Given the description of an element on the screen output the (x, y) to click on. 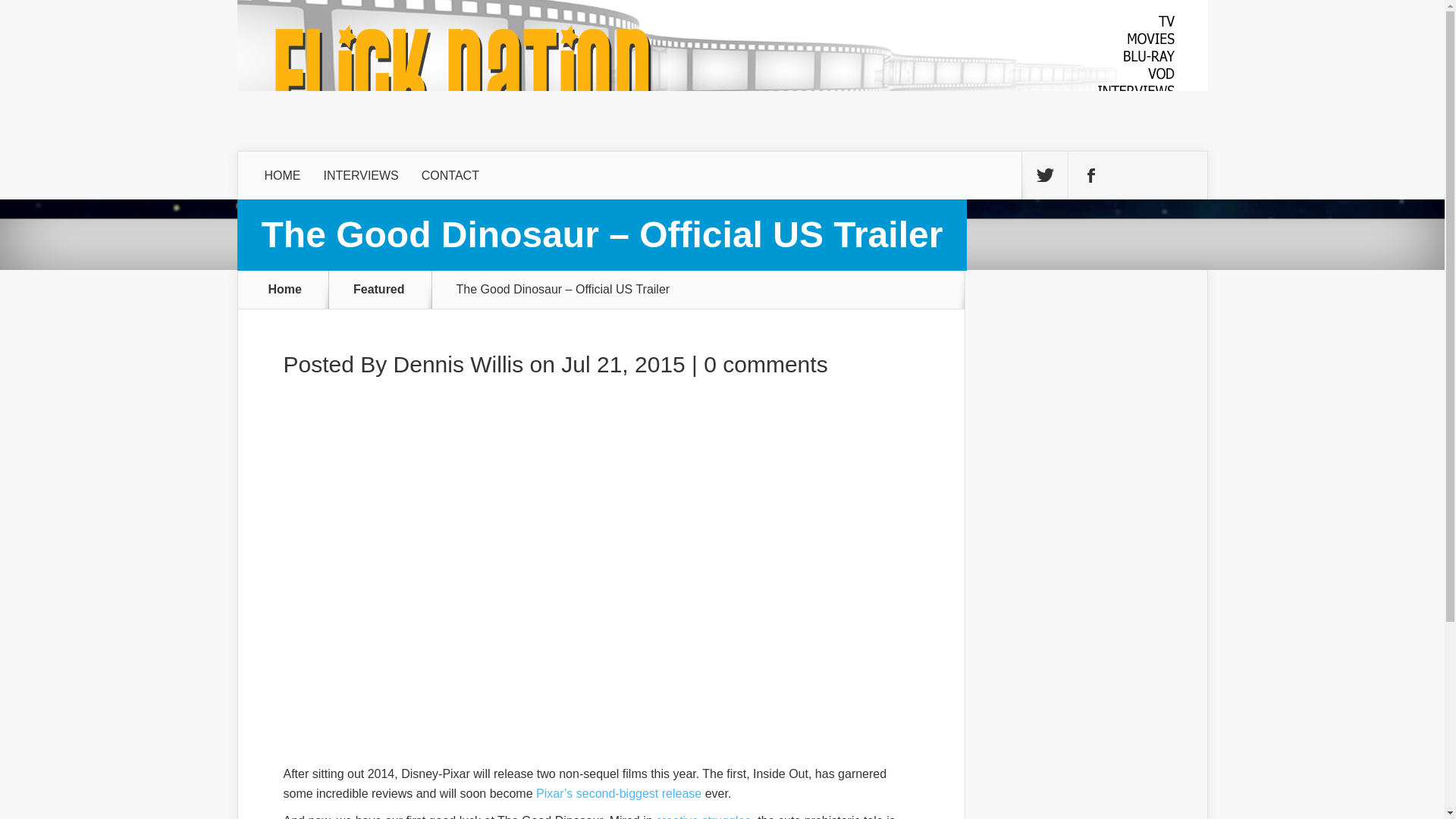
0 comments (765, 364)
creative struggles (703, 816)
Follow us on Twitter (1044, 175)
Home (285, 289)
Dennis Willis (458, 364)
Follow us on Facebook (1090, 175)
Featured (388, 289)
CONTACT (450, 175)
INTERVIEWS (361, 175)
Posts by Dennis Willis (458, 364)
